Given the description of an element on the screen output the (x, y) to click on. 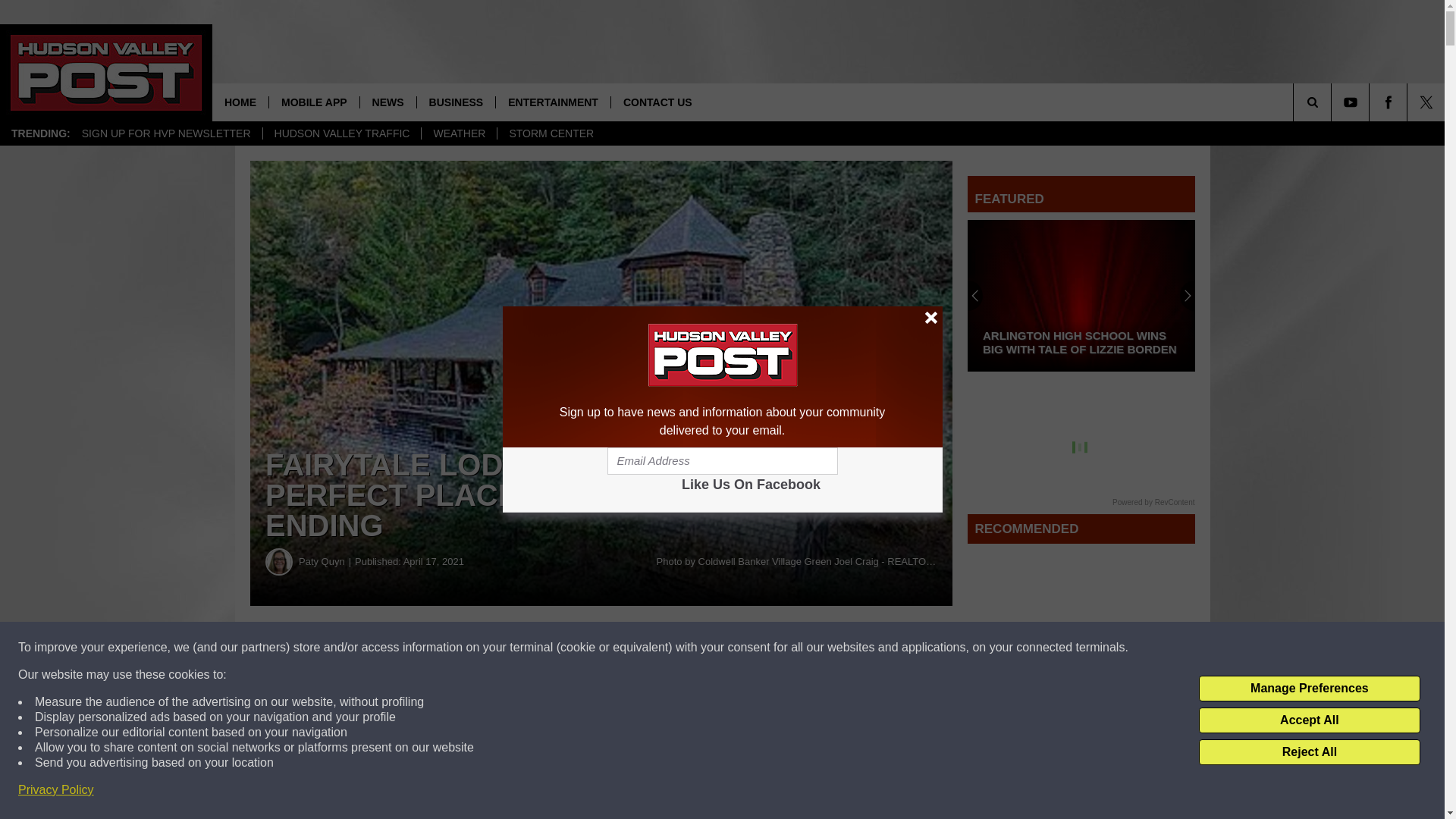
Accept All (1309, 720)
HOME (239, 102)
Share on Facebook (460, 647)
HUDSON VALLEY TRAFFIC (342, 133)
SIGN UP FOR HVP NEWSLETTER (165, 133)
Share on Twitter (741, 647)
Reject All (1309, 751)
WEATHER (458, 133)
Email Address (722, 461)
ENTERTAINMENT (552, 102)
NEWS (387, 102)
Manage Preferences (1309, 688)
MOBILE APP (313, 102)
CONTACT US (657, 102)
BUSINESS (456, 102)
